Given the description of an element on the screen output the (x, y) to click on. 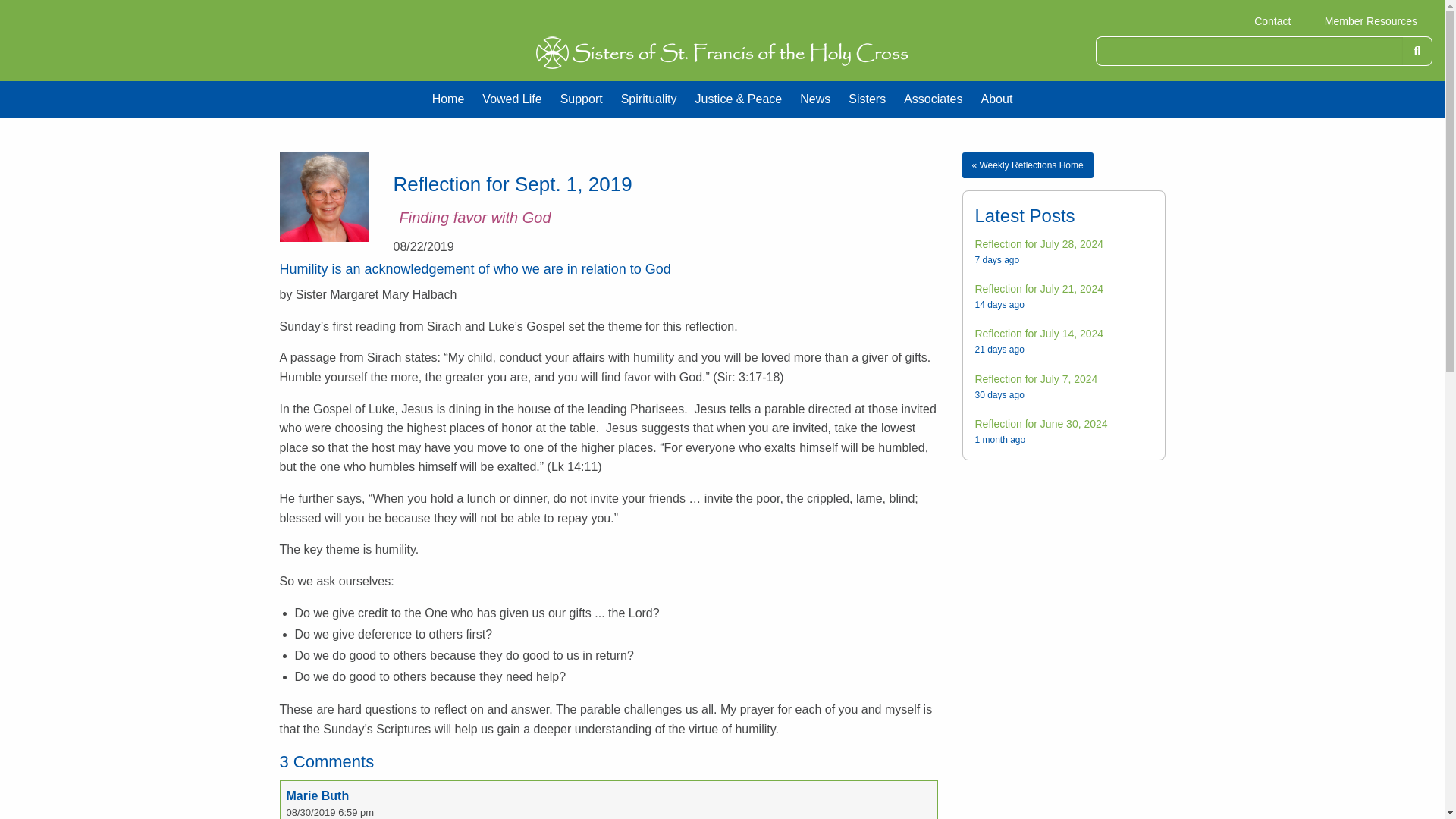
Search (1417, 51)
Spirituality (648, 98)
Vowed Life (511, 98)
Sisters of St. Francis of the Holy Cross in Green Bay, WI (721, 52)
Support (581, 98)
Member Resources (1370, 21)
Home (448, 98)
Reflection for Sept. 1, 2019 (323, 196)
Contact (1272, 21)
